Given the description of an element on the screen output the (x, y) to click on. 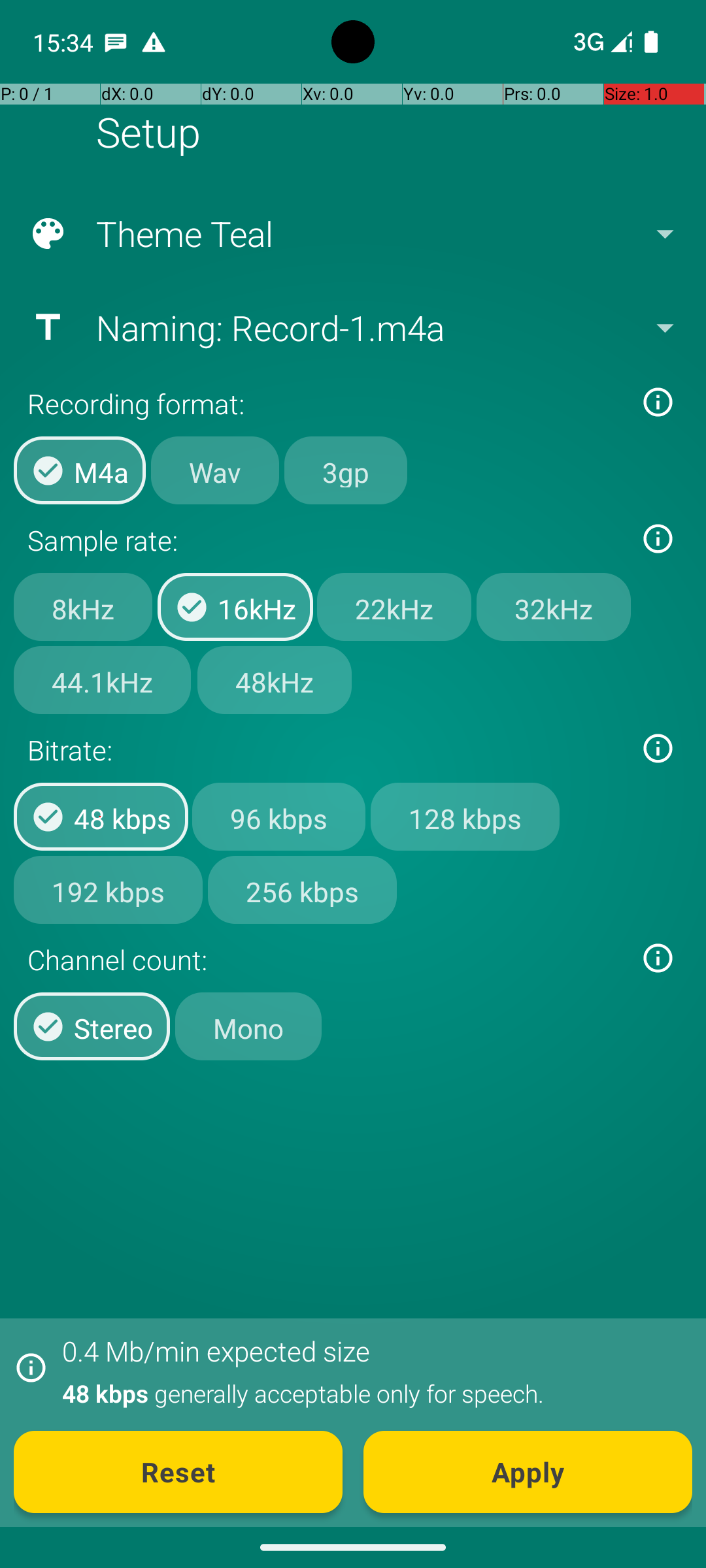
0.4 Mb/min expected size Element type: android.widget.TextView (215, 1350)
48 kbps generally acceptable only for speech. Element type: android.widget.TextView (370, 1392)
Reset Element type: android.widget.Button (177, 1471)
Apply Element type: android.widget.Button (527, 1471)
Setup Element type: android.widget.TextView (148, 131)
Recording format: Element type: android.widget.TextView (325, 403)
M4a Element type: android.widget.TextView (79, 470)
Wav Element type: android.widget.TextView (215, 470)
3gp Element type: android.widget.TextView (345, 470)
Sample rate: Element type: android.widget.TextView (325, 539)
44.1kHz Element type: android.widget.TextView (101, 680)
16kHz Element type: android.widget.TextView (235, 606)
22kHz Element type: android.widget.TextView (394, 606)
32kHz Element type: android.widget.TextView (553, 606)
48kHz Element type: android.widget.TextView (274, 680)
8kHz Element type: android.widget.TextView (82, 606)
Bitrate: Element type: android.widget.TextView (325, 749)
128 kbps Element type: android.widget.TextView (464, 816)
192 kbps Element type: android.widget.TextView (107, 889)
256 kbps Element type: android.widget.TextView (301, 889)
48 kbps Element type: android.widget.TextView (100, 816)
96 kbps Element type: android.widget.TextView (278, 816)
Channel count: Element type: android.widget.TextView (325, 959)
Stereo Element type: android.widget.TextView (91, 1026)
Mono Element type: android.widget.TextView (248, 1026)
Theme Teal Element type: android.widget.TextView (352, 233)
Naming: Record-1.m4a Element type: android.widget.TextView (352, 327)
SMS Messenger notification:  Element type: android.widget.ImageView (115, 41)
Phone three bars. Element type: android.widget.FrameLayout (600, 41)
